Given the description of an element on the screen output the (x, y) to click on. 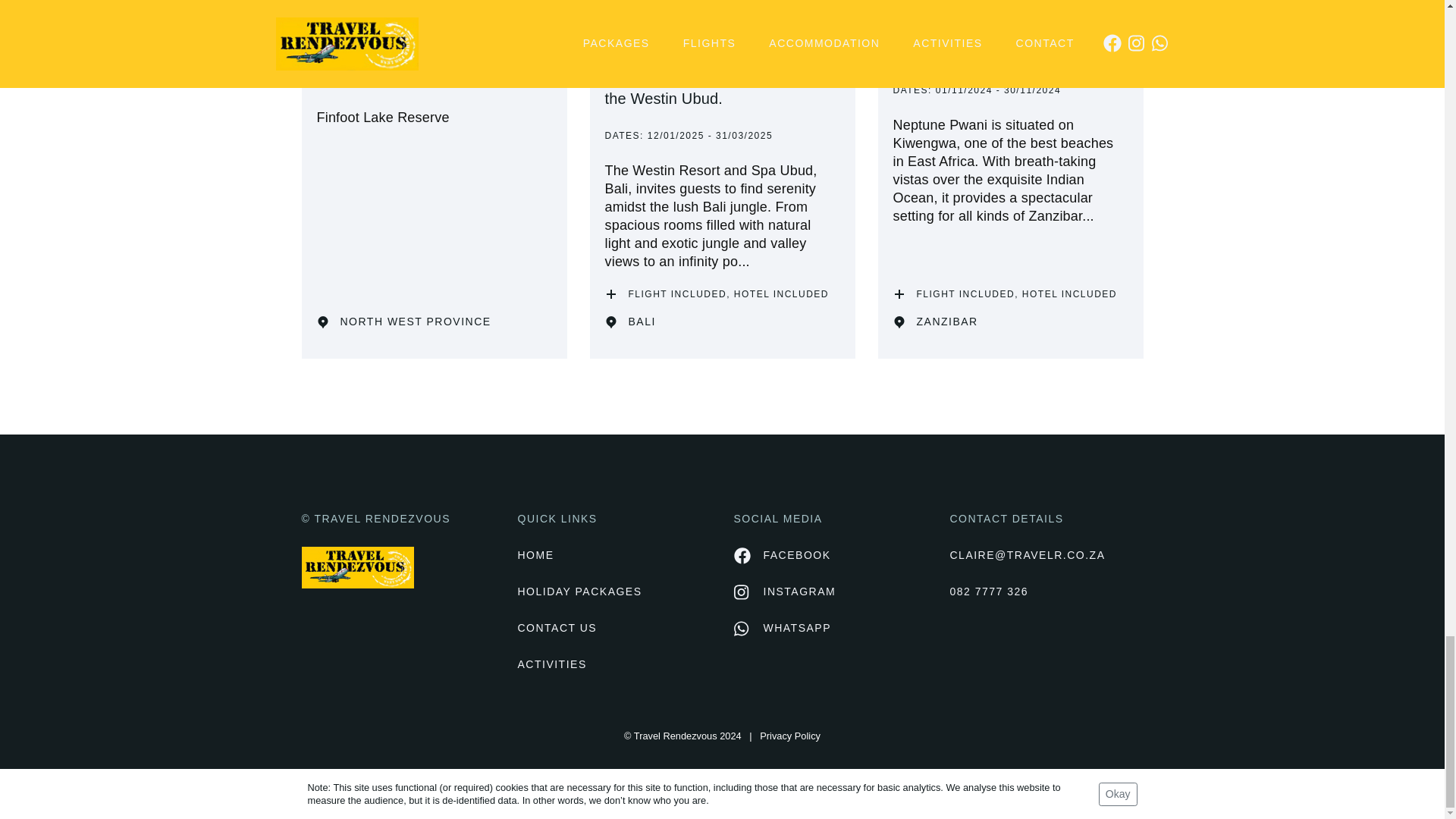
HOLIDAY PACKAGES (613, 592)
HOME (613, 556)
FACEBOOK (782, 556)
INSTAGRAM (784, 592)
Privacy Policy (790, 736)
CONTACT US (613, 628)
ACTIVITIES (613, 665)
WHATSAPP (782, 628)
082 7777 326 (1045, 592)
